Given the description of an element on the screen output the (x, y) to click on. 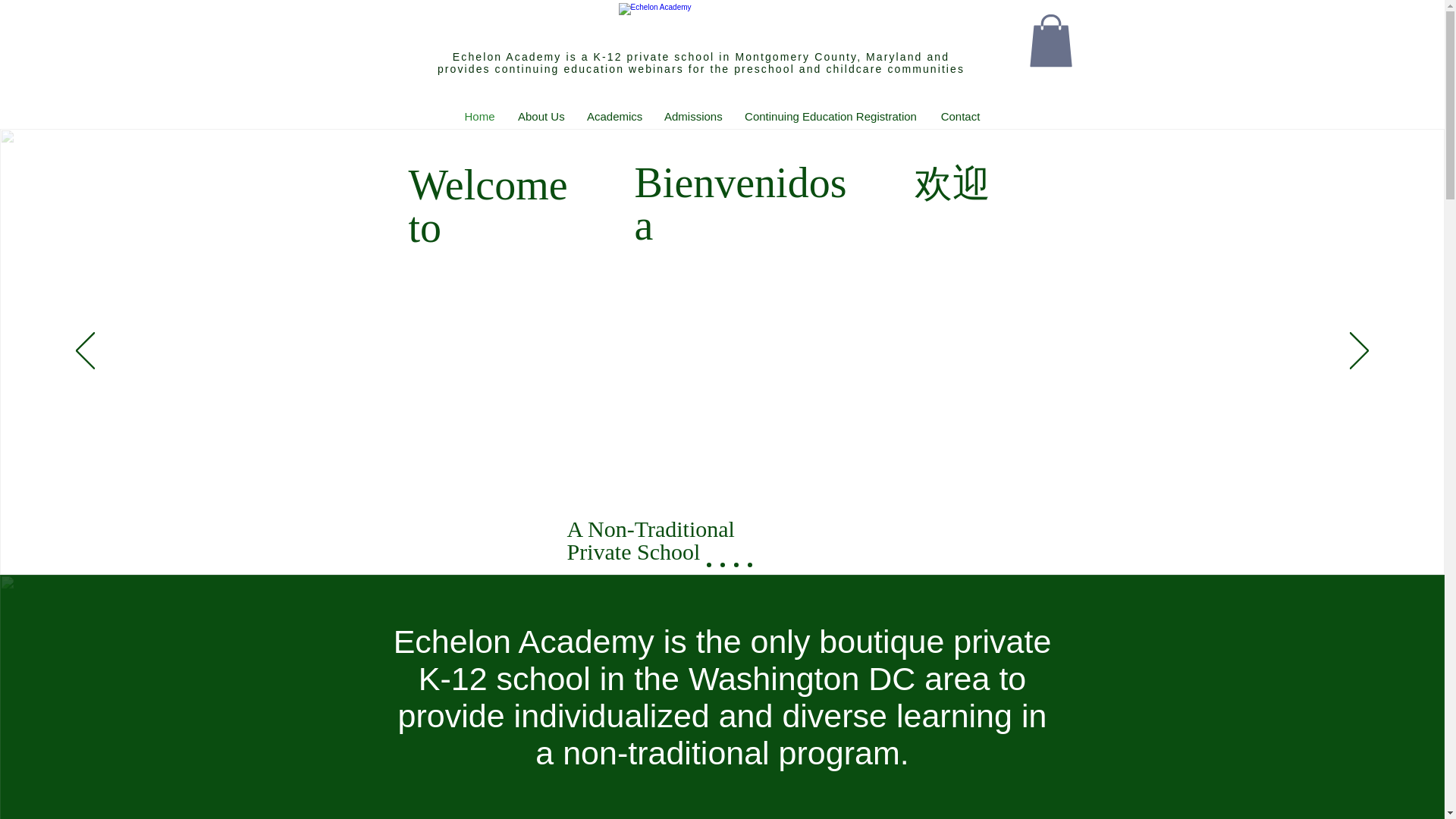
Contact (959, 116)
Home (479, 116)
Academics (613, 116)
Echelon Academy (721, 24)
Admissions (692, 116)
About Us (540, 116)
